Given the description of an element on the screen output the (x, y) to click on. 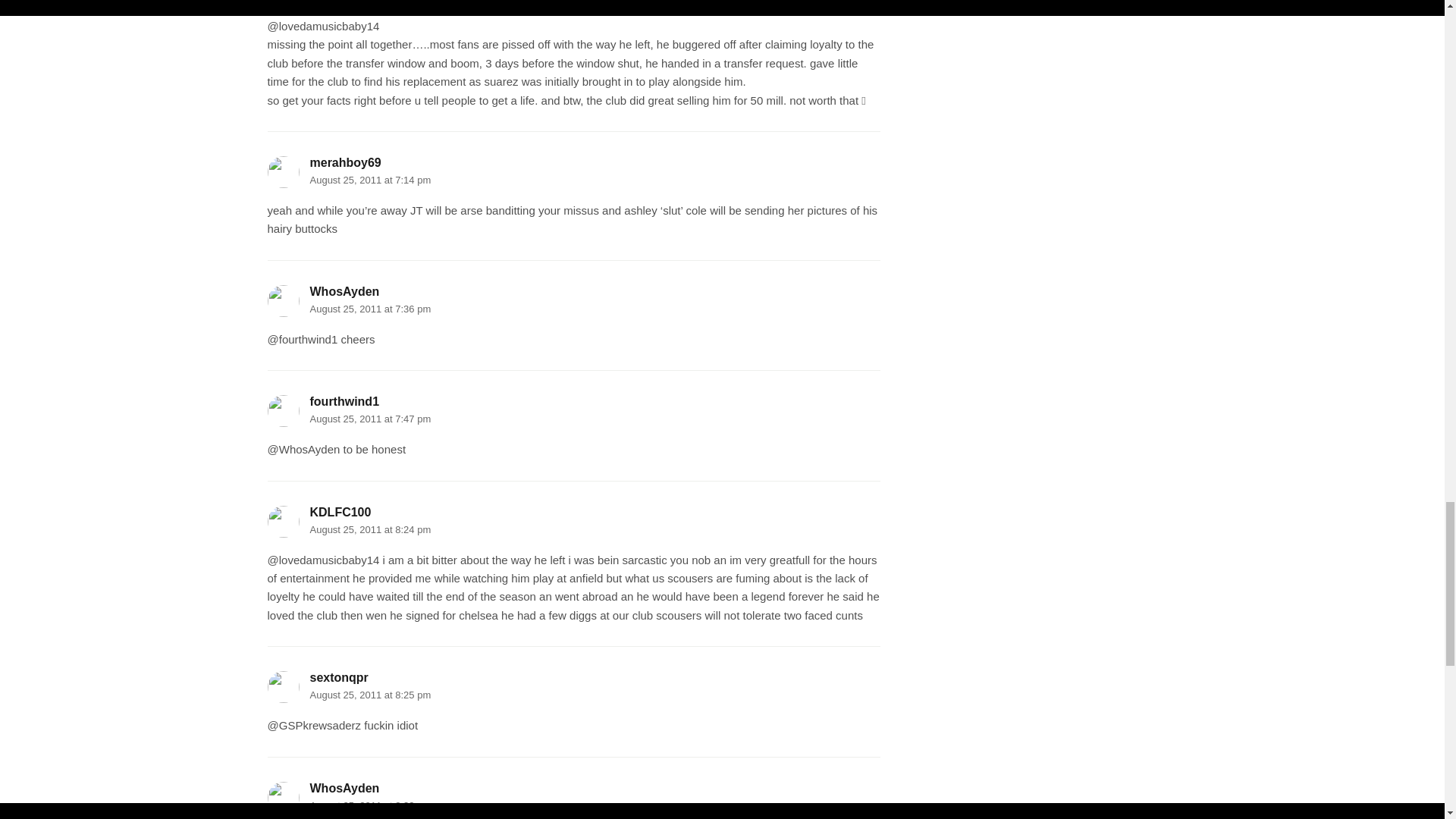
August 25, 2011 at 7:47 pm (369, 419)
August 25, 2011 at 6:35 pm (369, 0)
August 25, 2011 at 8:24 pm (369, 529)
August 25, 2011 at 7:36 pm (369, 308)
August 25, 2011 at 8:33 pm (369, 805)
August 25, 2011 at 7:14 pm (369, 179)
August 25, 2011 at 8:25 pm (369, 695)
